Given the description of an element on the screen output the (x, y) to click on. 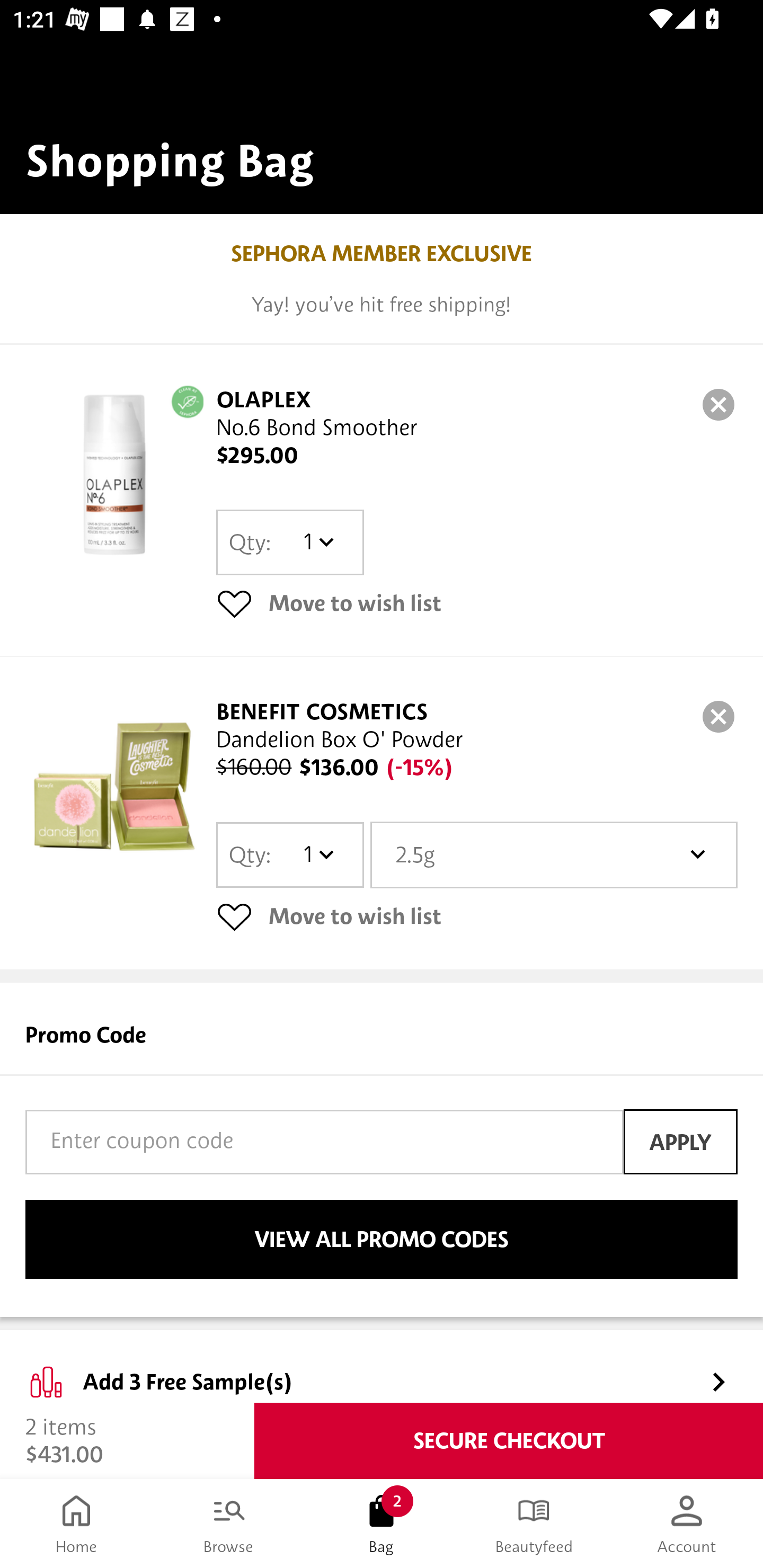
1 (317, 542)
Move to wish list (476, 602)
2.5g (553, 854)
1 (317, 854)
Move to wish list (476, 916)
APPLY (680, 1141)
Enter coupon code (324, 1142)
VIEW ALL PROMO CODES (381, 1239)
Add 3 Free Sample(s) (381, 1366)
SECURE CHECKOUT (508, 1440)
Home (76, 1523)
Browse (228, 1523)
Beautyfeed (533, 1523)
Account (686, 1523)
